Given the description of an element on the screen output the (x, y) to click on. 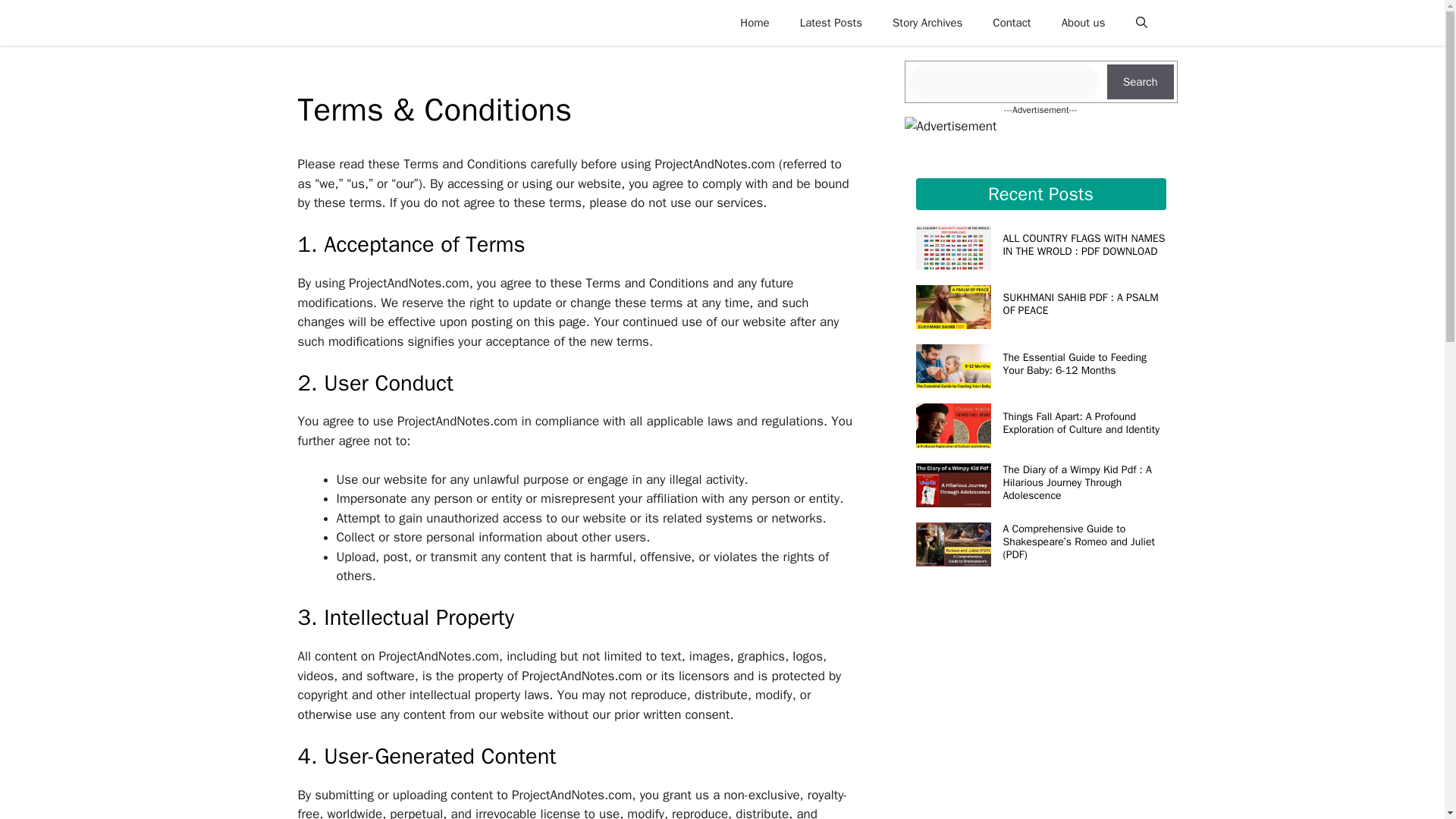
Contact (1010, 22)
About us (1083, 22)
ALL COUNTRY FLAGS WITH NAMES IN THE WROLD : PDF DOWNLOAD (1083, 244)
Search (1139, 81)
Story Archives (926, 22)
The Essential Guide to Feeding Your Baby: 6-12 Months (1075, 363)
SUKHMANI SAHIB PDF : A PSALM OF PEACE (1080, 303)
Latest Posts (830, 22)
Home (754, 22)
